Given the description of an element on the screen output the (x, y) to click on. 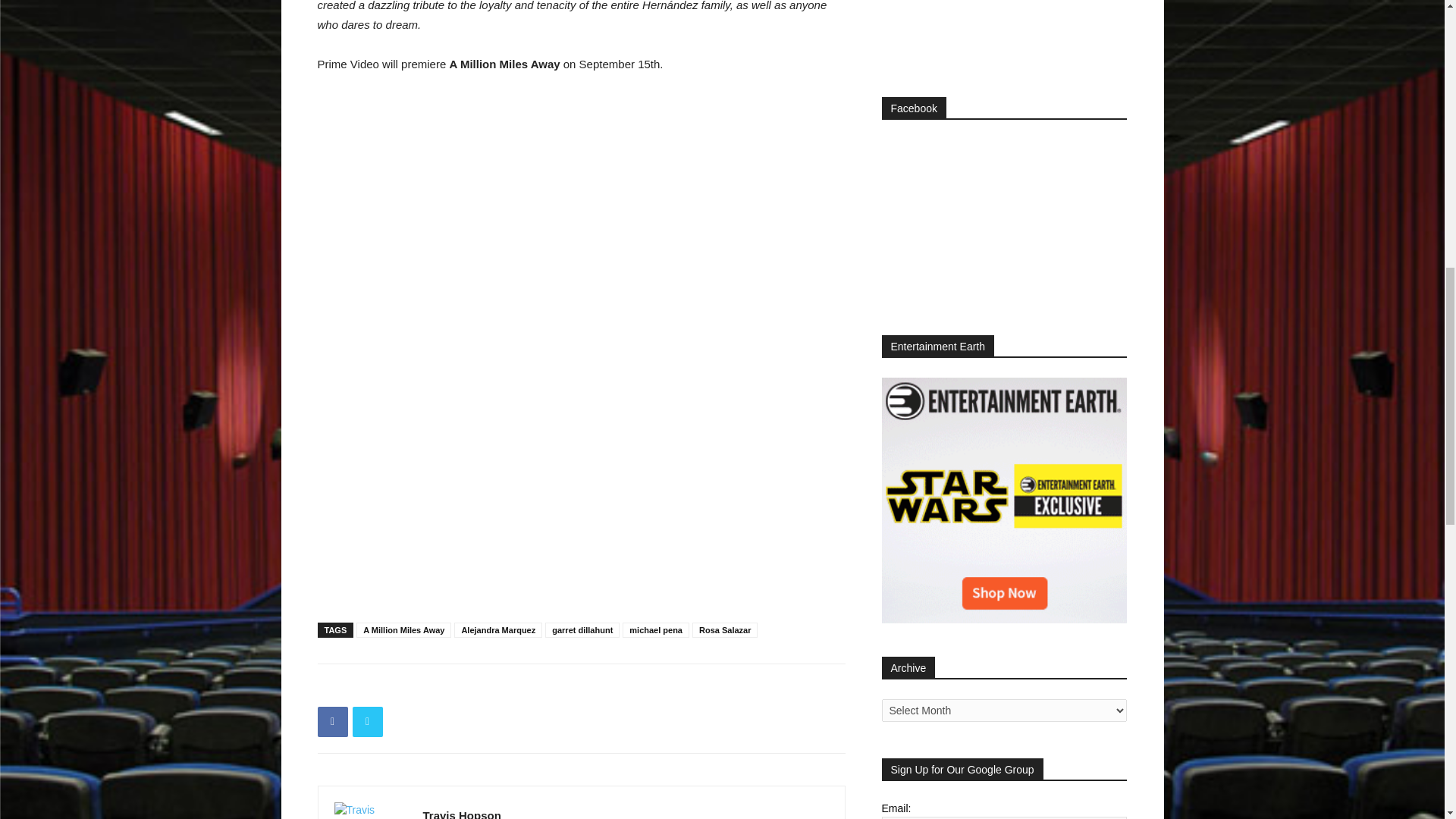
Twitter (366, 721)
bottomFacebookLike (430, 688)
Facebook (332, 721)
